Given the description of an element on the screen output the (x, y) to click on. 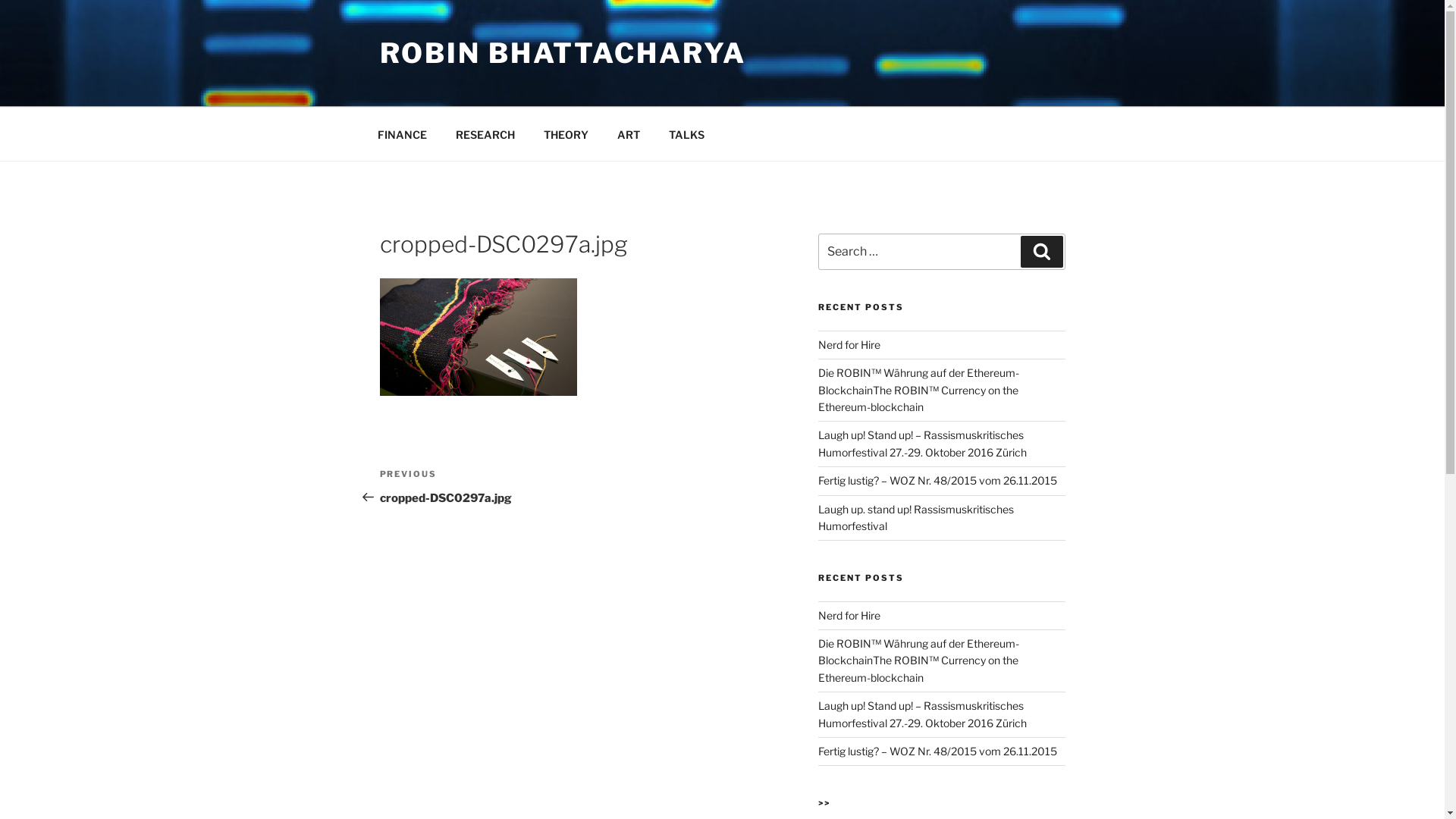
RESEARCH Element type: text (485, 133)
THEORY Element type: text (566, 133)
Search Element type: text (1041, 251)
Previous Post
PREVIOUS
cropped-DSC0297a.jpg Element type: text (478, 486)
ART Element type: text (627, 133)
Nerd for Hire Element type: text (849, 614)
ROBIN BHATTACHARYA Element type: text (562, 52)
FINANCE Element type: text (401, 133)
Laugh up. stand up! Rassismuskritisches Humorfestival Element type: text (915, 516)
Nerd for Hire Element type: text (849, 344)
TALKS Element type: text (686, 133)
